Given the description of an element on the screen output the (x, y) to click on. 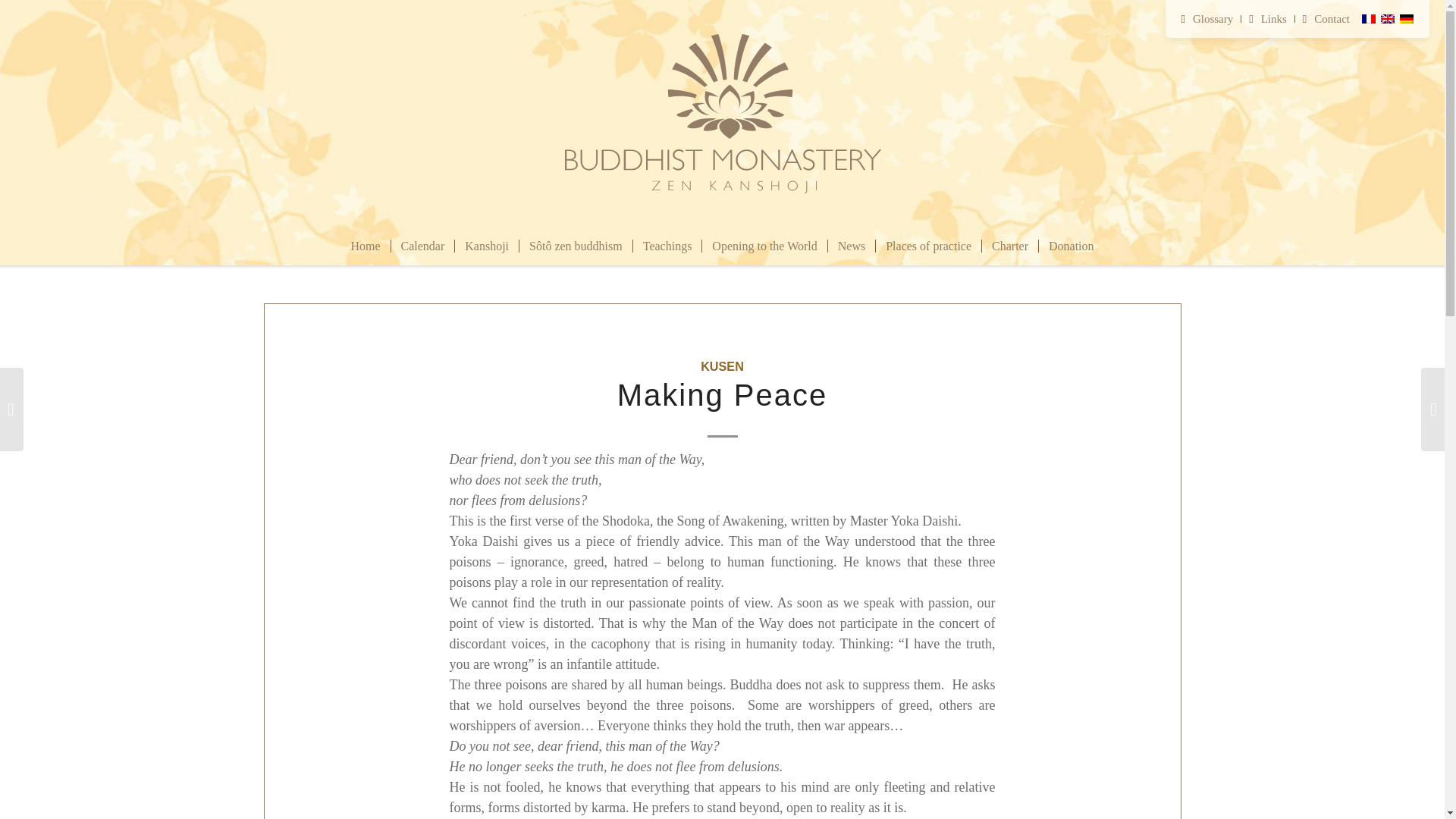
English (1387, 18)
Kanshoji (486, 246)
Links (1268, 18)
Home (365, 246)
Places of practice (928, 246)
Donation (1070, 246)
Charter (1009, 246)
Calendar (422, 246)
Teachings (666, 246)
Opening to the World (764, 246)
Deutsch (1406, 18)
News (851, 246)
Making Peace (722, 394)
KUSEN (722, 366)
Permanent Link: Making Peace (722, 394)
